Given the description of an element on the screen output the (x, y) to click on. 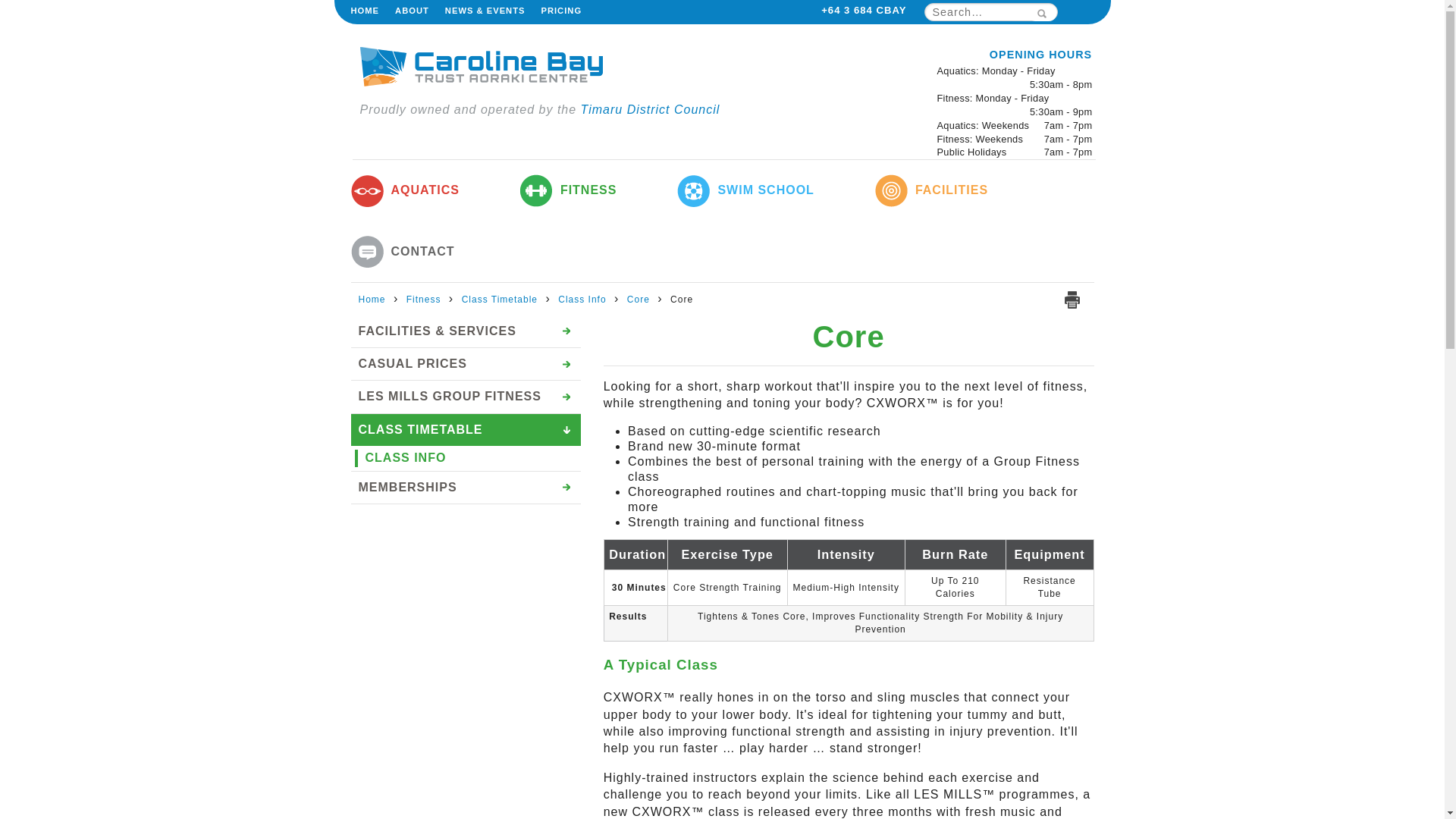
Search (1040, 13)
FACILITIES (931, 190)
Print this page (1073, 299)
PRICING (560, 10)
HOME (364, 10)
Timaru District Council (650, 109)
Search (1040, 13)
AQUATICS (404, 190)
CONTACT (402, 251)
ABOUT (411, 10)
FITNESS (568, 190)
SWIM SCHOOL (745, 190)
